Given the description of an element on the screen output the (x, y) to click on. 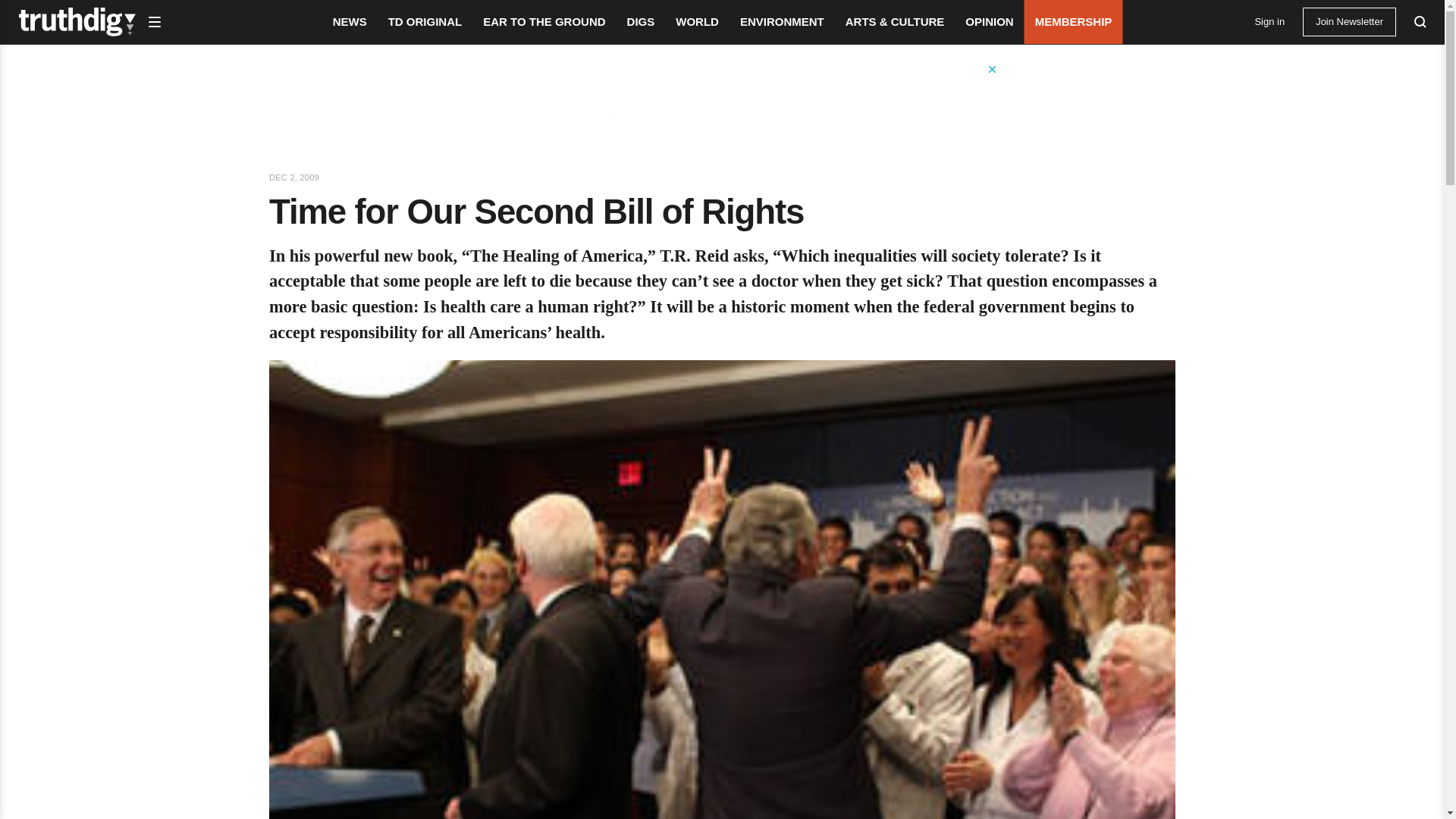
3rd party ad content (721, 97)
